Given the description of an element on the screen output the (x, y) to click on. 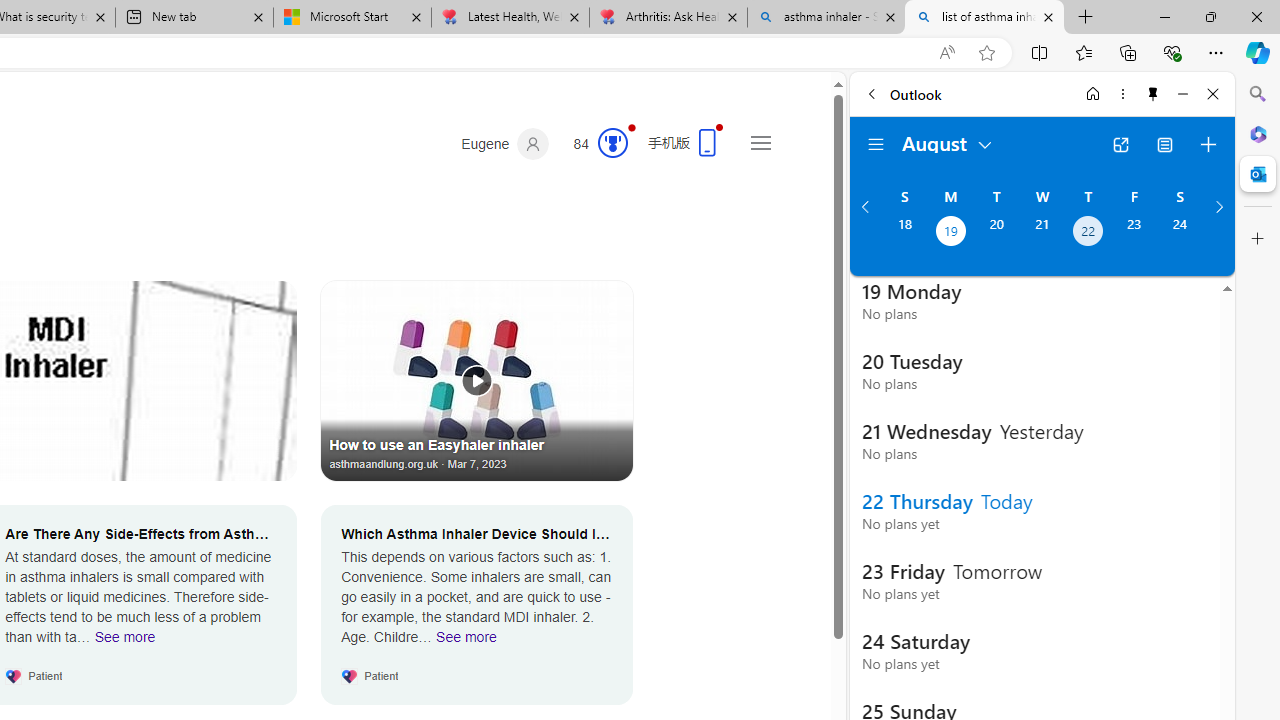
Thursday, August 22, 2024. Today.  (1088, 233)
Settings and quick links (760, 142)
View Switcher. Current view is Agenda view (1165, 144)
Friday, August 23, 2024.  (1134, 233)
AutomationID: rh_meter (612, 142)
